Given the description of an element on the screen output the (x, y) to click on. 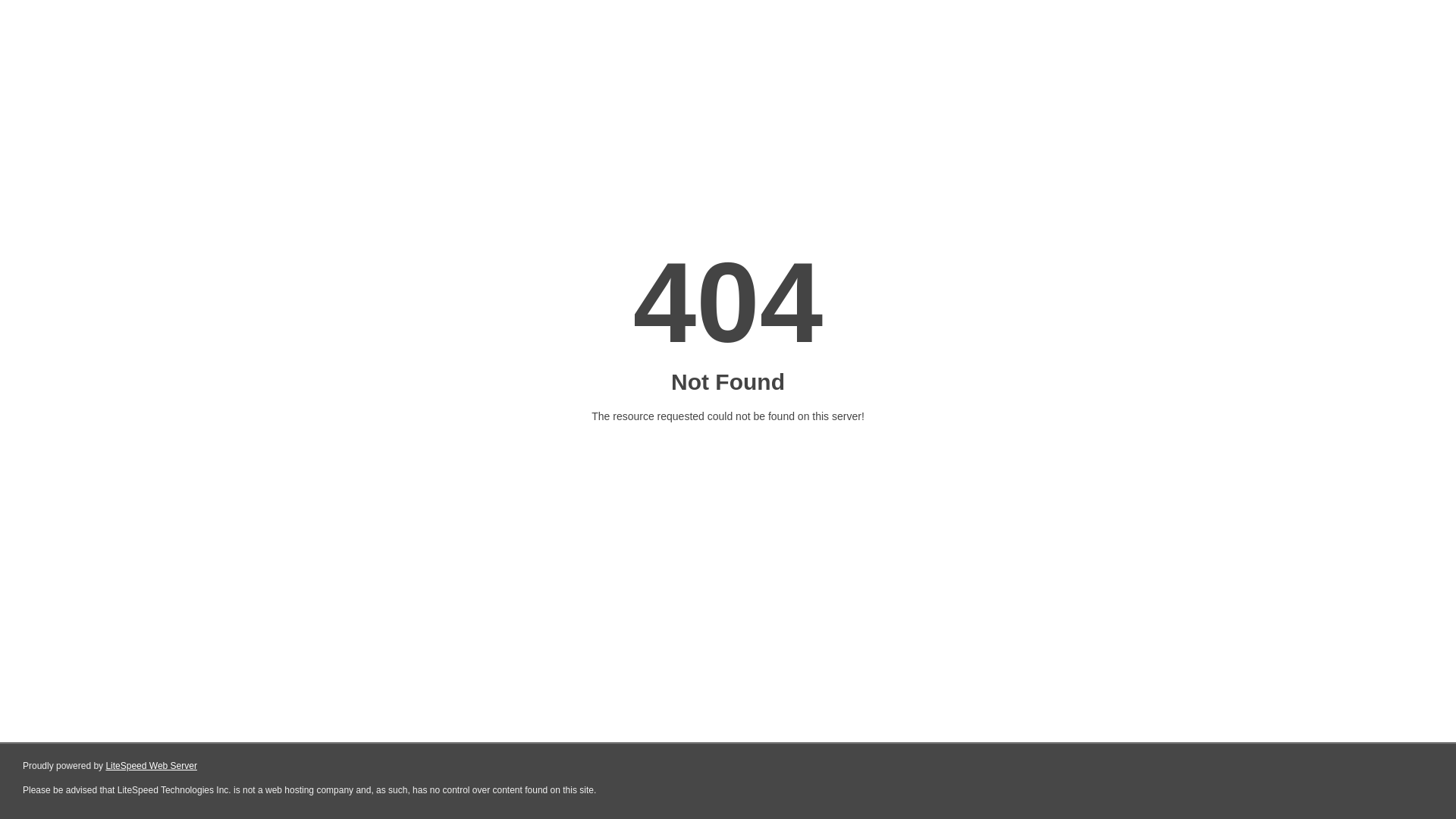
LiteSpeed Web Server Element type: text (151, 765)
